Given the description of an element on the screen output the (x, y) to click on. 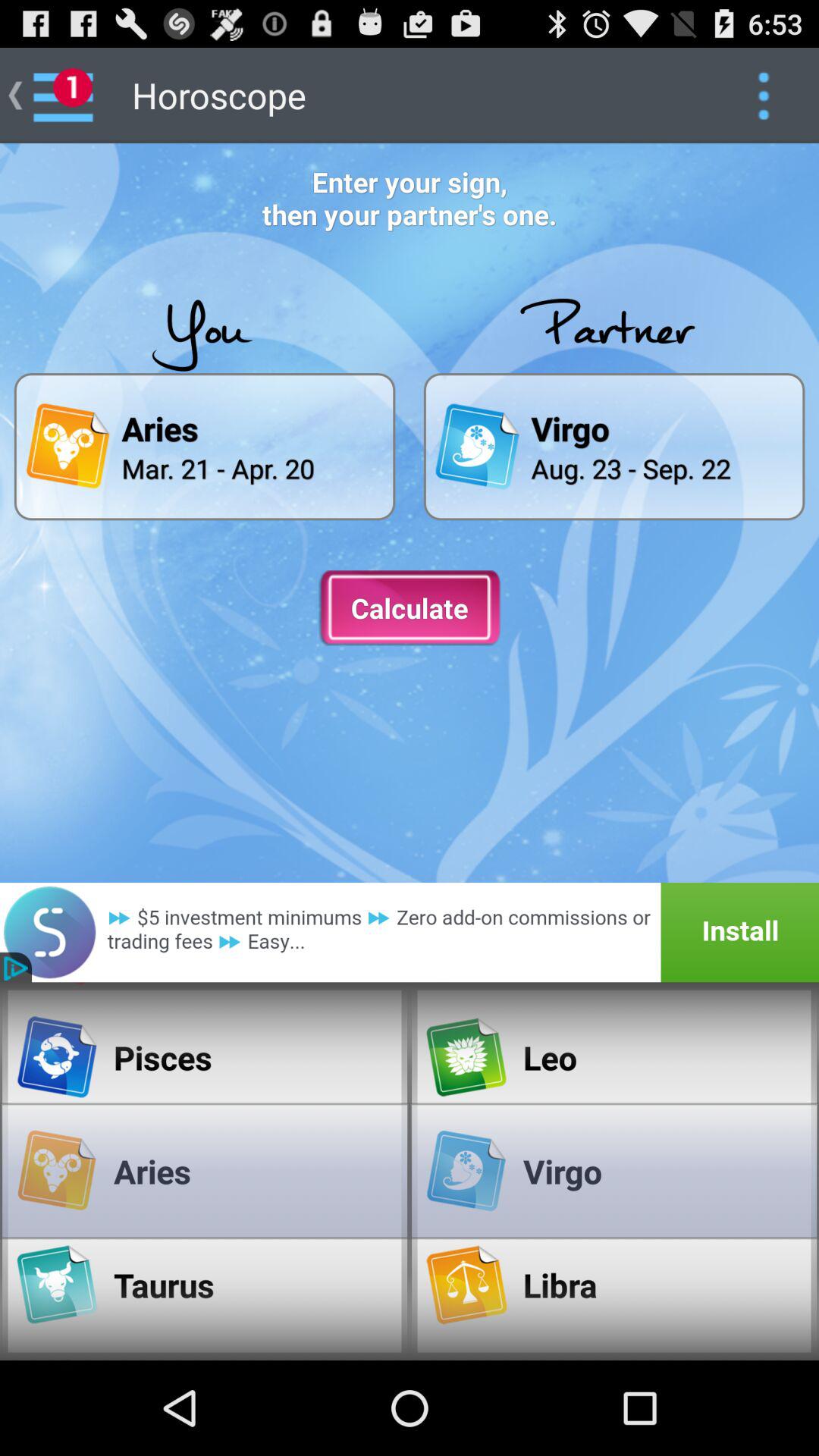
toggle calculate option (409, 608)
